Given the description of an element on the screen output the (x, y) to click on. 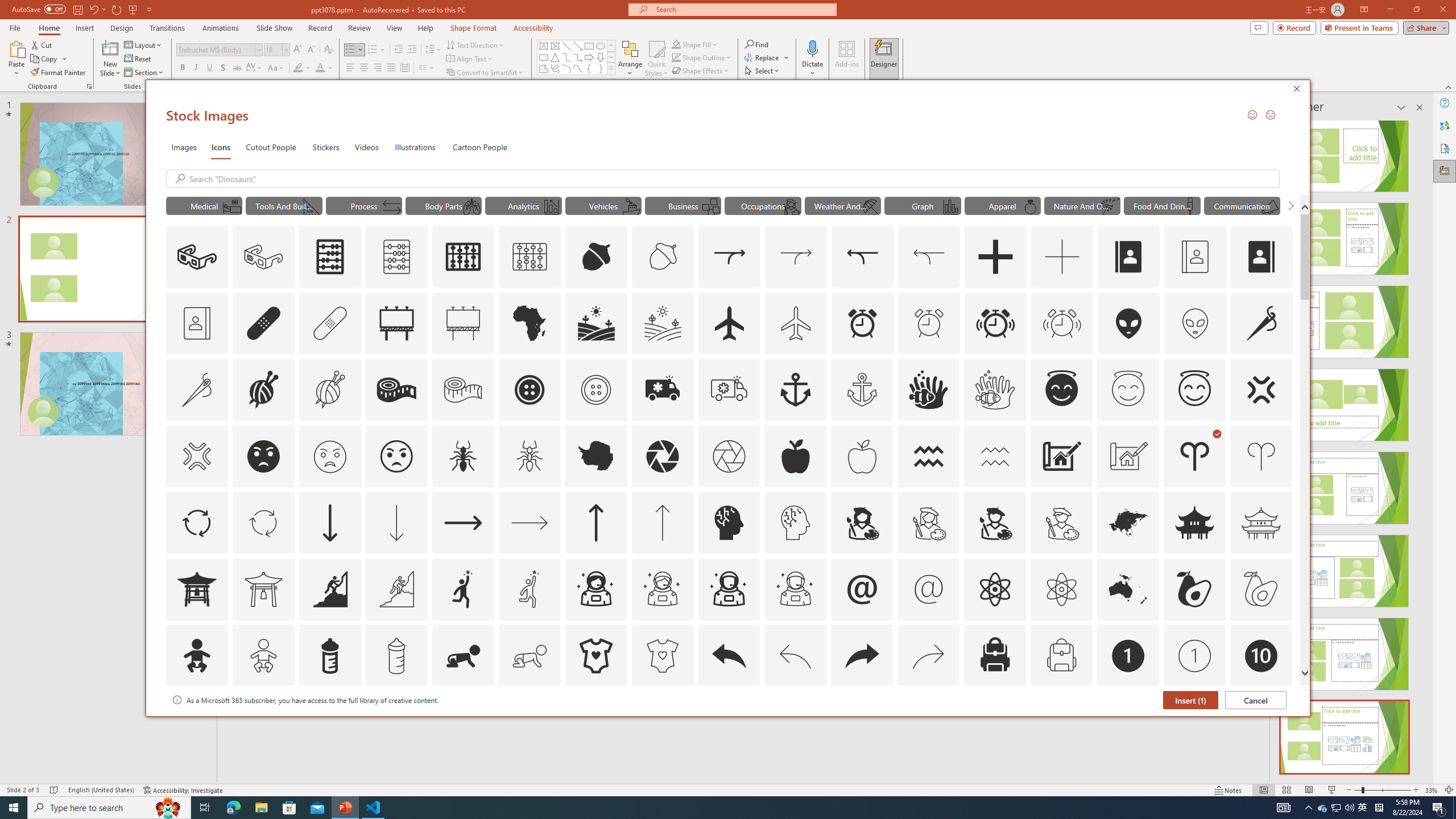
AutomationID: Icons_ArrowUp_M (662, 522)
Next Search Suggestion (1290, 205)
AutomationID: Icons_Badge4_M (595, 721)
AutomationID: Icons_Aspiration1_M (529, 588)
AutomationID: Icons_AlienFace_M (1194, 323)
AutomationID: Icons_Anchor_M (861, 389)
AutomationID: Icons_AngerSymbol_M (196, 455)
AutomationID: Icons_Badge7_M (995, 721)
